Given the description of an element on the screen output the (x, y) to click on. 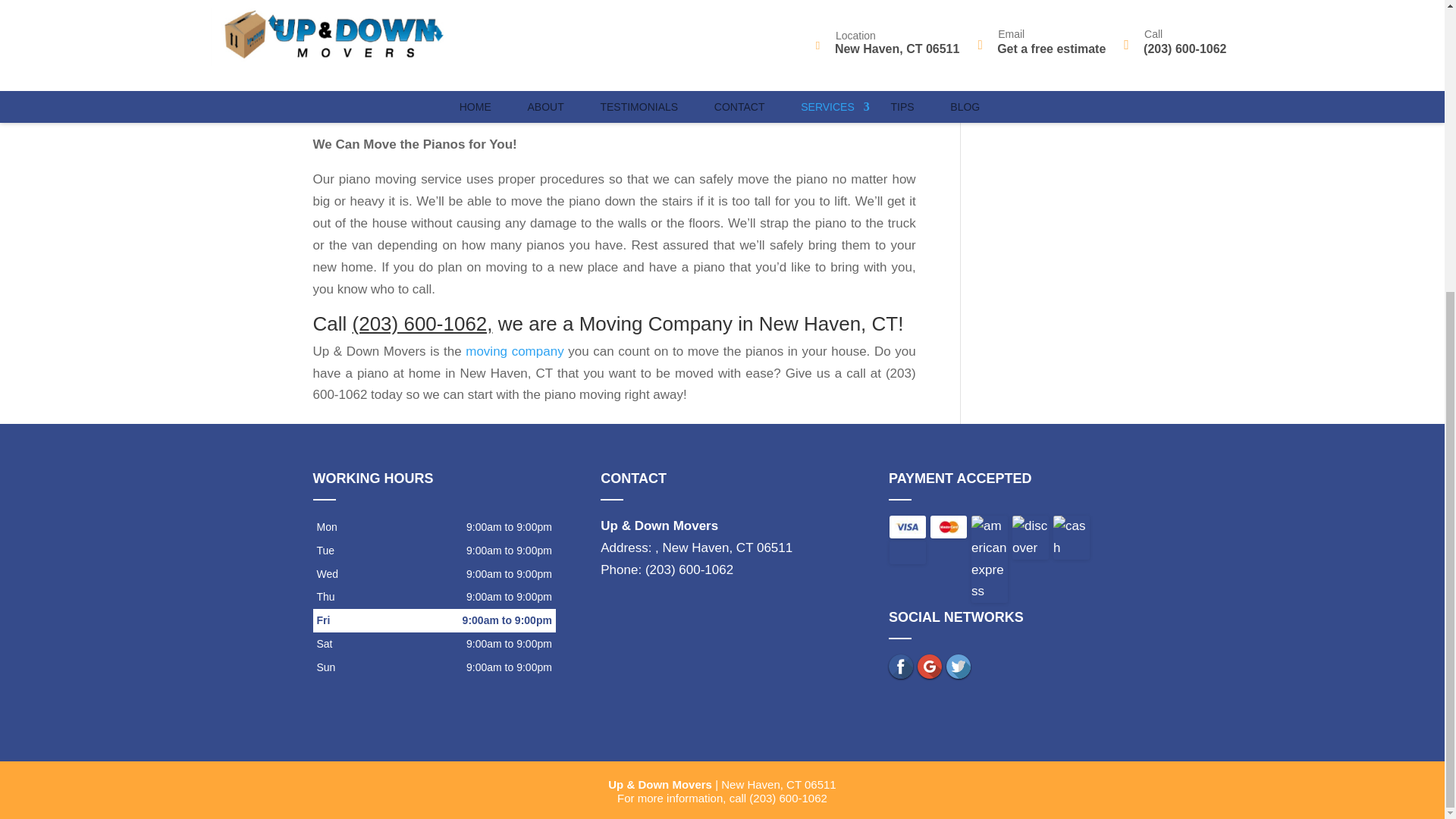
mastercard payment accepted (948, 526)
facebook (900, 666)
Check company profile on google (929, 666)
moving company (514, 350)
google (929, 666)
twitter (958, 666)
visa payment accepted (907, 526)
check payment accepted (907, 552)
Check company profile on facebook (900, 666)
Check company profile on twitter (958, 666)
